Given the description of an element on the screen output the (x, y) to click on. 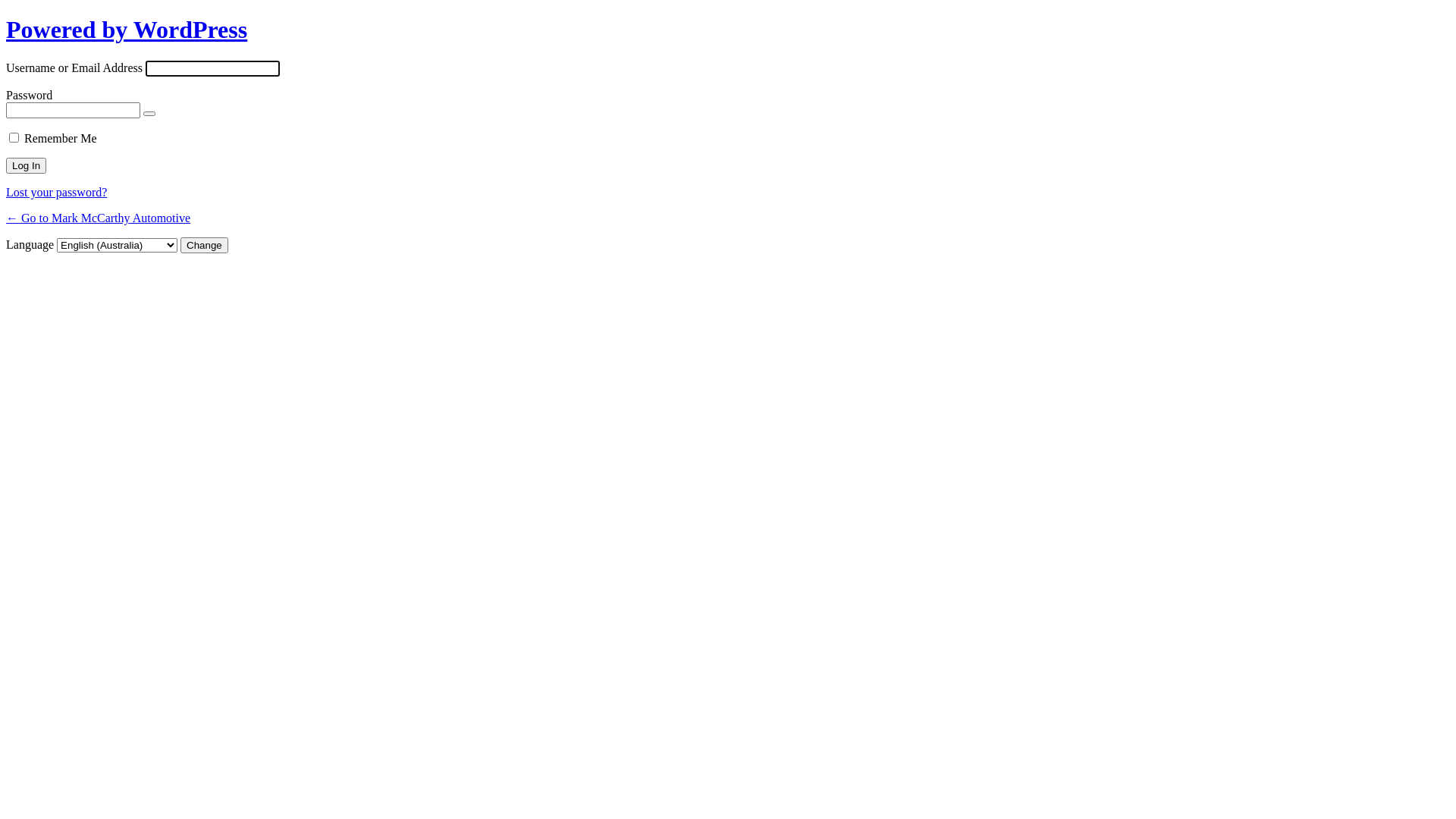
Change Element type: text (204, 245)
Powered by WordPress Element type: text (126, 29)
Lost your password? Element type: text (56, 191)
Log In Element type: text (26, 165)
